Given the description of an element on the screen output the (x, y) to click on. 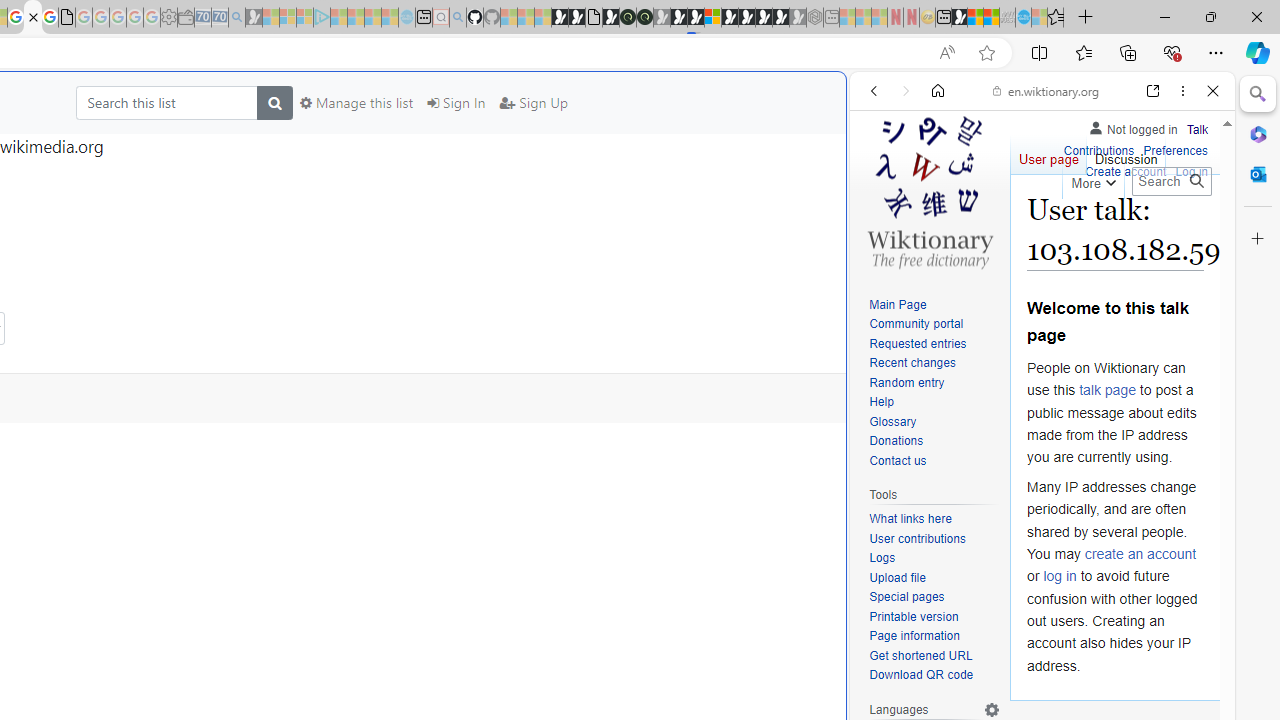
Contributions (1098, 151)
